Given the description of an element on the screen output the (x, y) to click on. 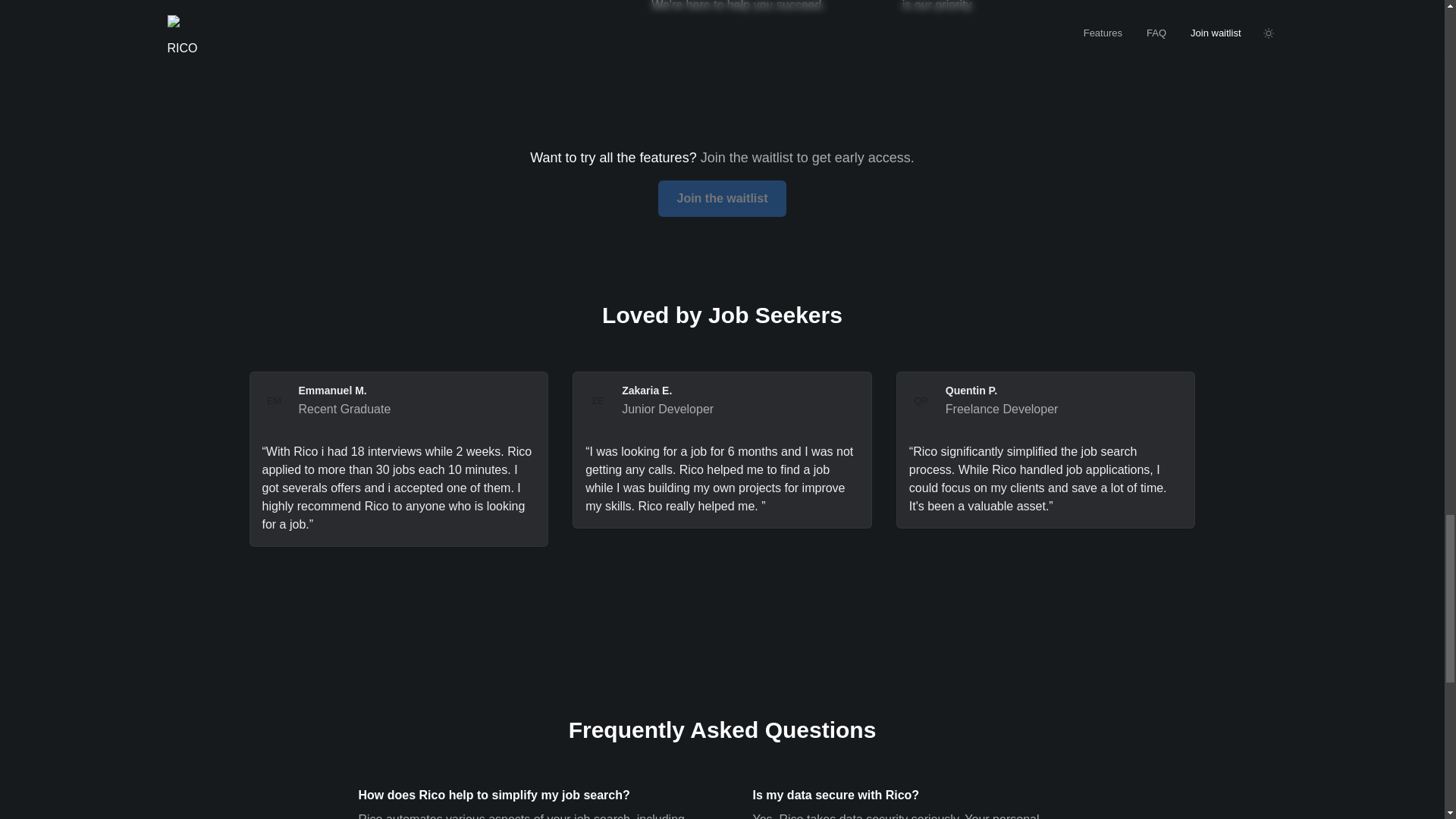
Join the waitlist (722, 191)
Join the waitlist (722, 198)
